Given the description of an element on the screen output the (x, y) to click on. 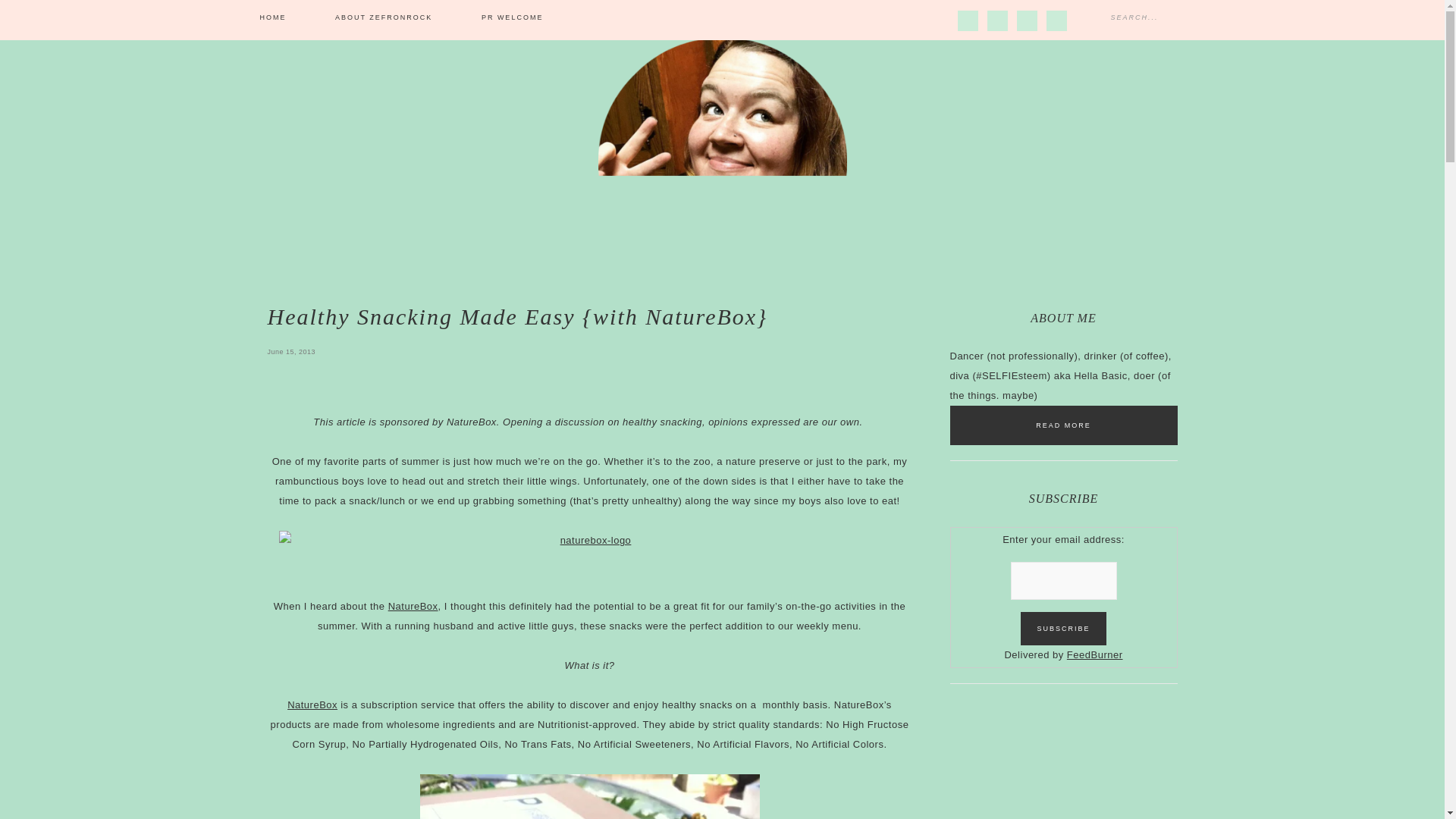
MIXED PRINTS LIFE (721, 151)
Subscribe (1062, 628)
FeedBurner (1094, 654)
READ MORE (1062, 425)
HOME (271, 18)
NatureBox (311, 704)
NatureBox (413, 605)
Subscribe (1062, 628)
